Given the description of an element on the screen output the (x, y) to click on. 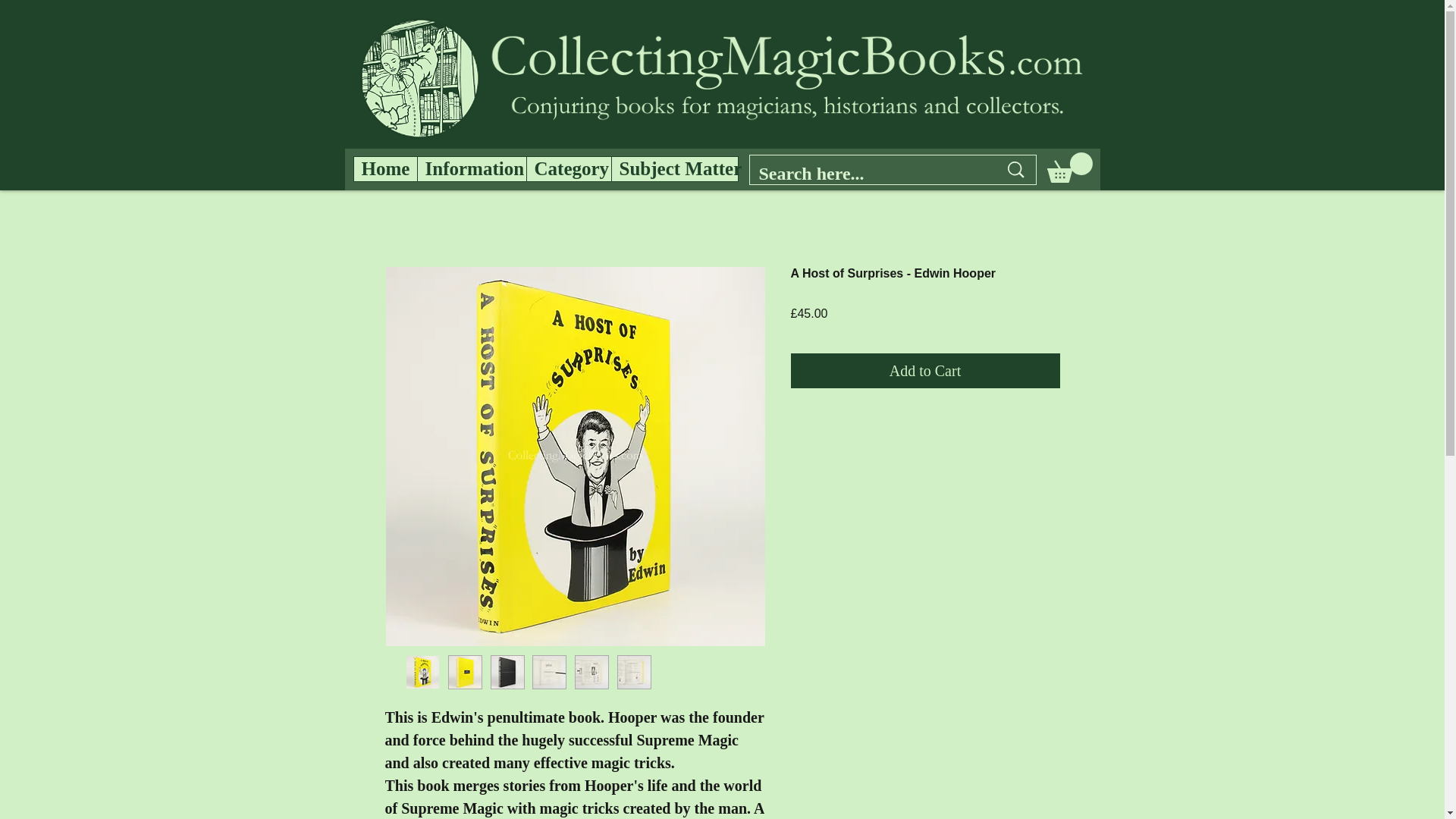
Subject Matter (674, 168)
Category (568, 168)
Home (384, 168)
Information (470, 168)
